Given the description of an element on the screen output the (x, y) to click on. 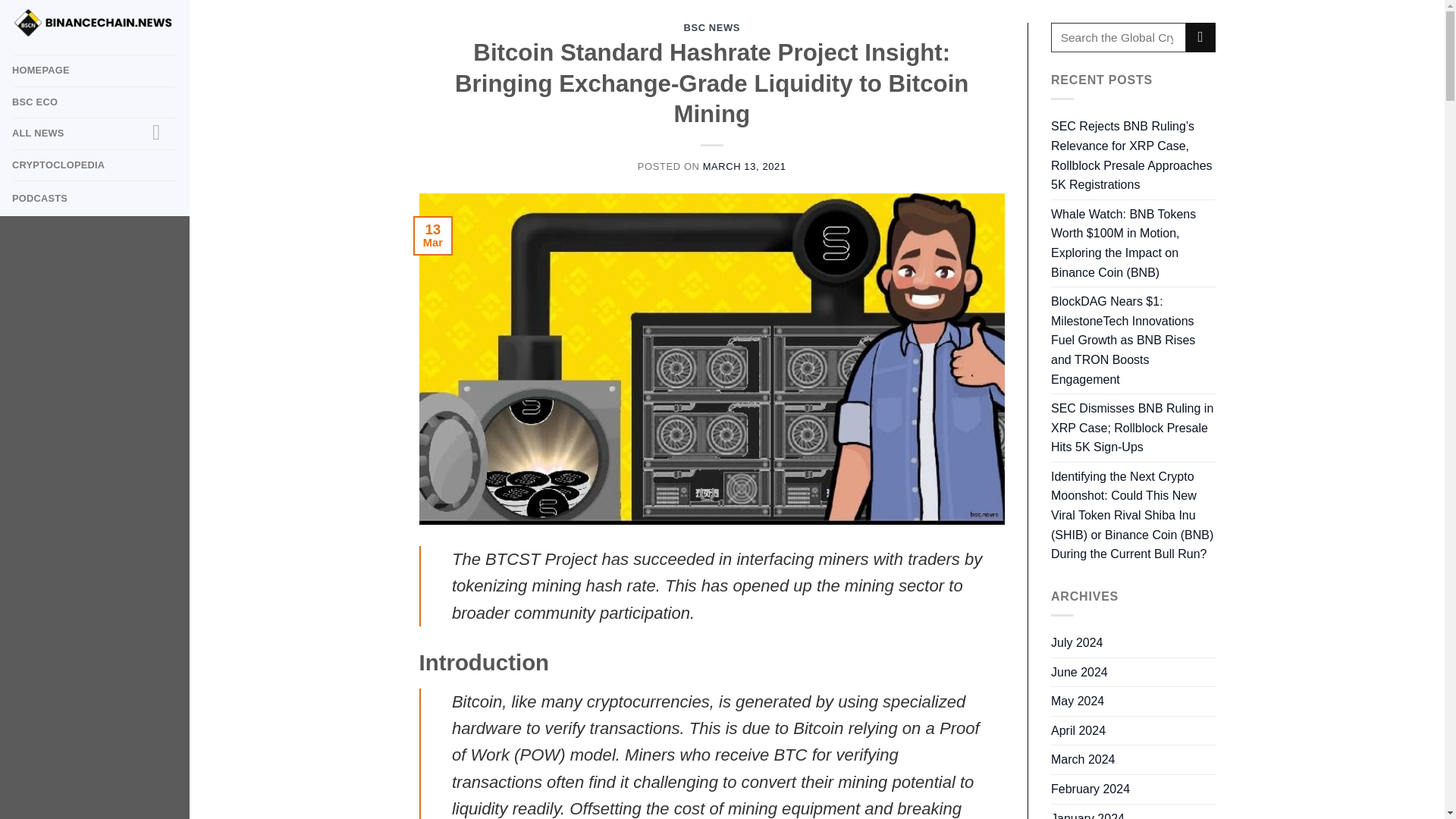
BSC NEWS (710, 27)
CryptocoinStart - Start your crypto journey with knowledge (94, 22)
MARCH 13, 2021 (744, 165)
